Given the description of an element on the screen output the (x, y) to click on. 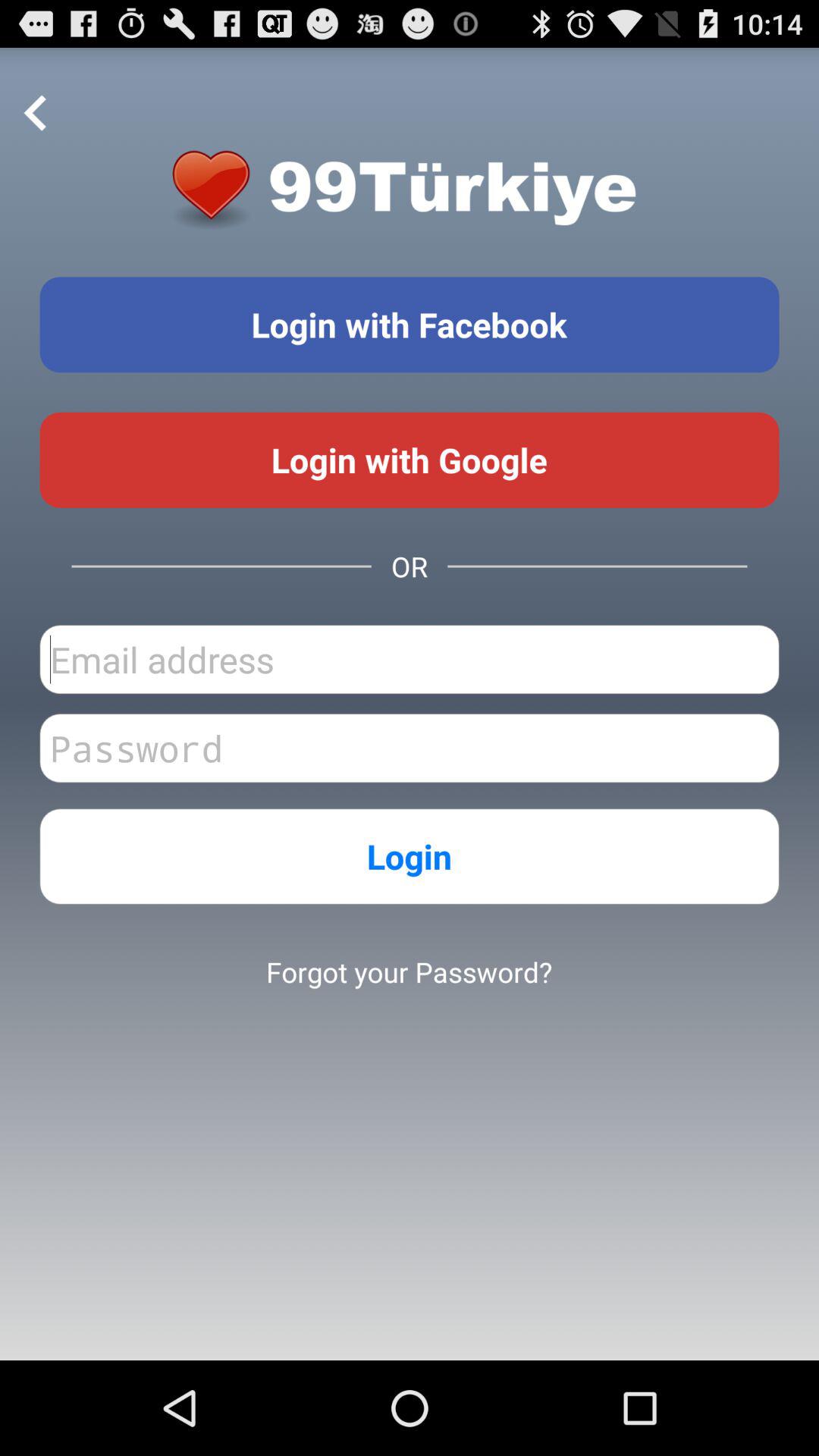
choose login option (409, 324)
